Given the description of an element on the screen output the (x, y) to click on. 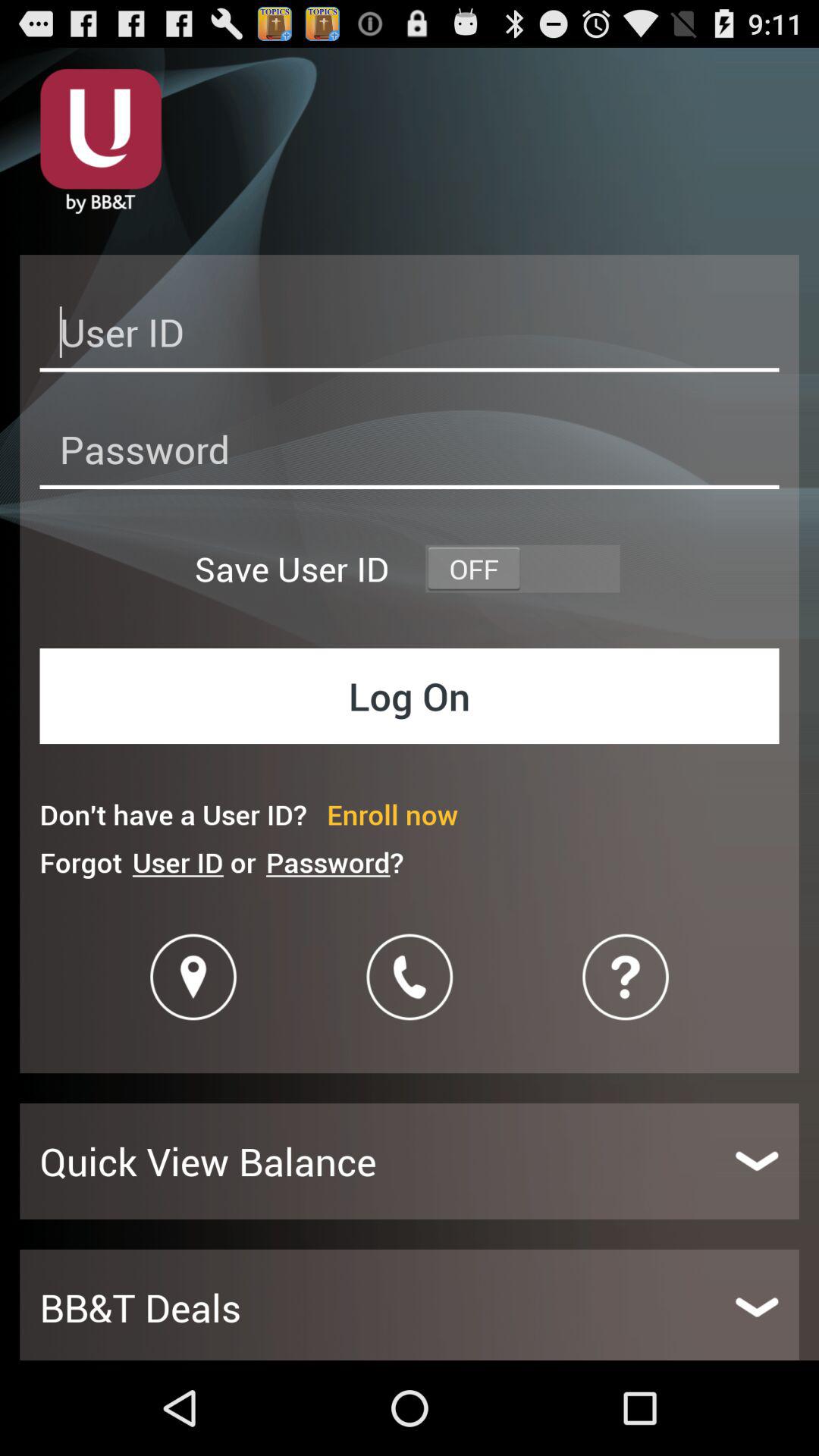
turn off item to the right of user id or (334, 861)
